Given the description of an element on the screen output the (x, y) to click on. 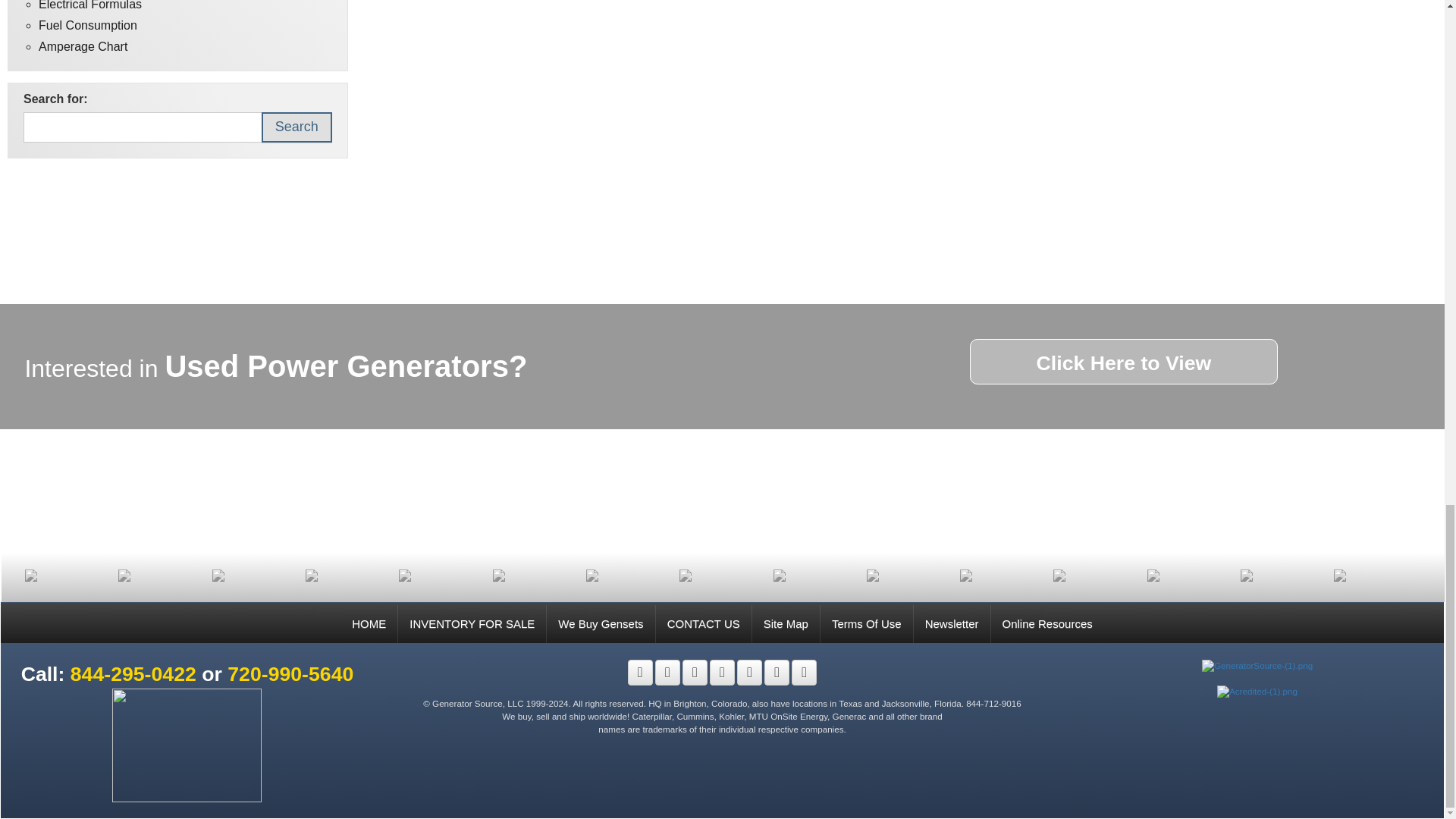
detroit (816, 575)
magnum (1376, 575)
mq (255, 575)
caterpillar (1002, 575)
ir (628, 575)
Search (296, 127)
mtu (1283, 575)
cummins (909, 575)
olympian (160, 575)
waukesha (67, 575)
